Given the description of an element on the screen output the (x, y) to click on. 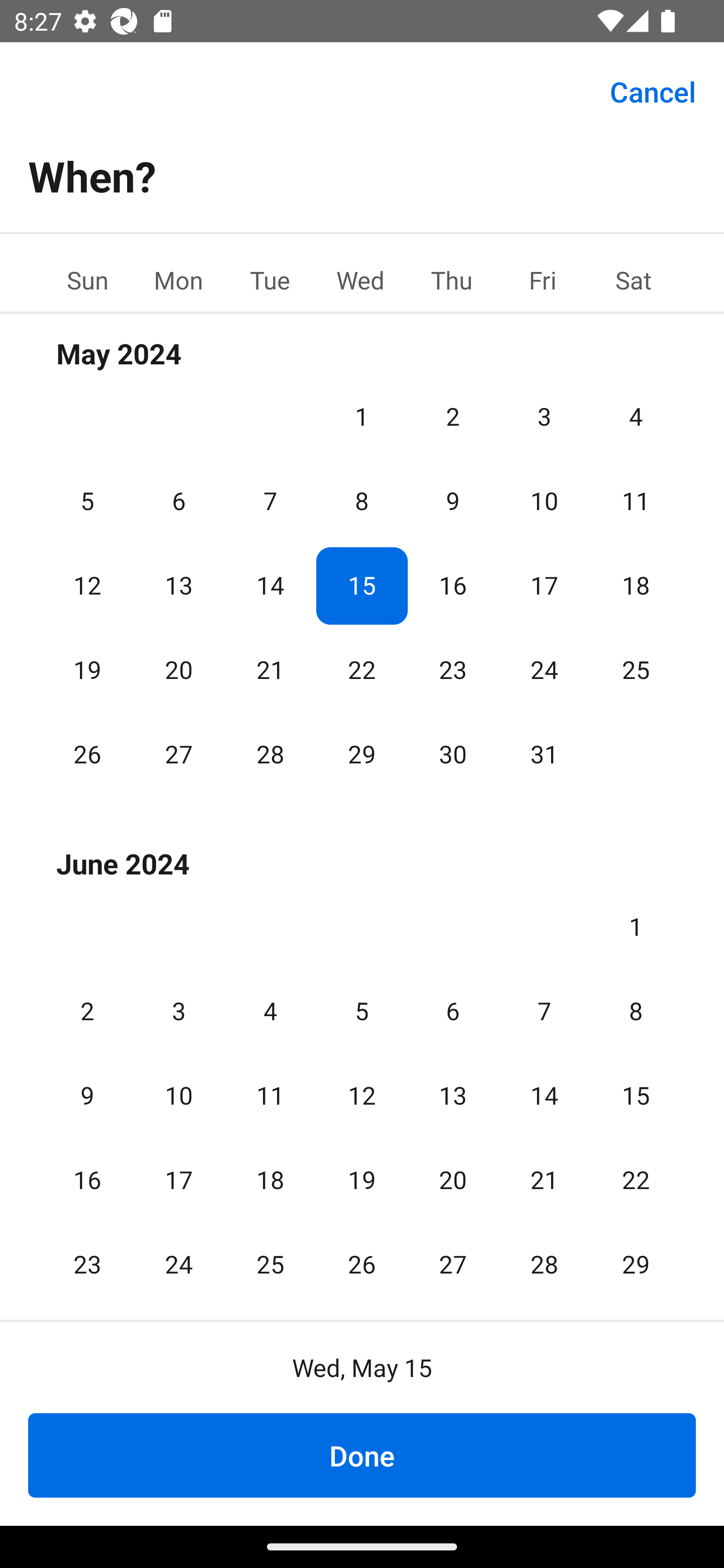
Cancel (652, 90)
Done (361, 1454)
